Given the description of an element on the screen output the (x, y) to click on. 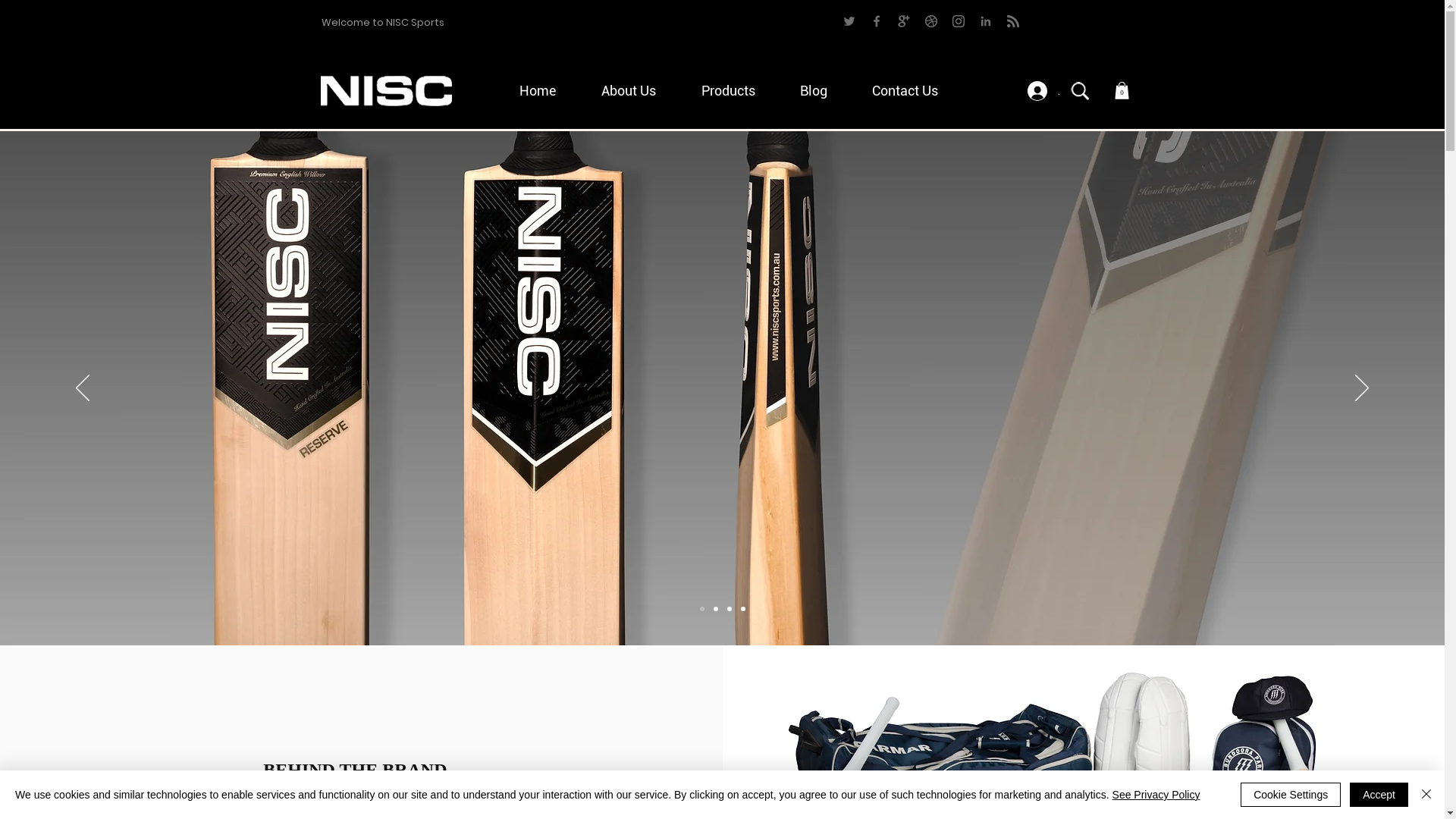
Products Element type: text (739, 90)
. Element type: text (1043, 90)
See Privacy Policy Element type: text (1156, 794)
Home Element type: text (548, 90)
Accept Element type: text (1378, 794)
About Us Element type: text (639, 90)
Cookie Settings Element type: text (1290, 794)
0 Element type: text (1121, 90)
Blog Element type: text (824, 90)
Contact Us Element type: text (914, 90)
